Given the description of an element on the screen output the (x, y) to click on. 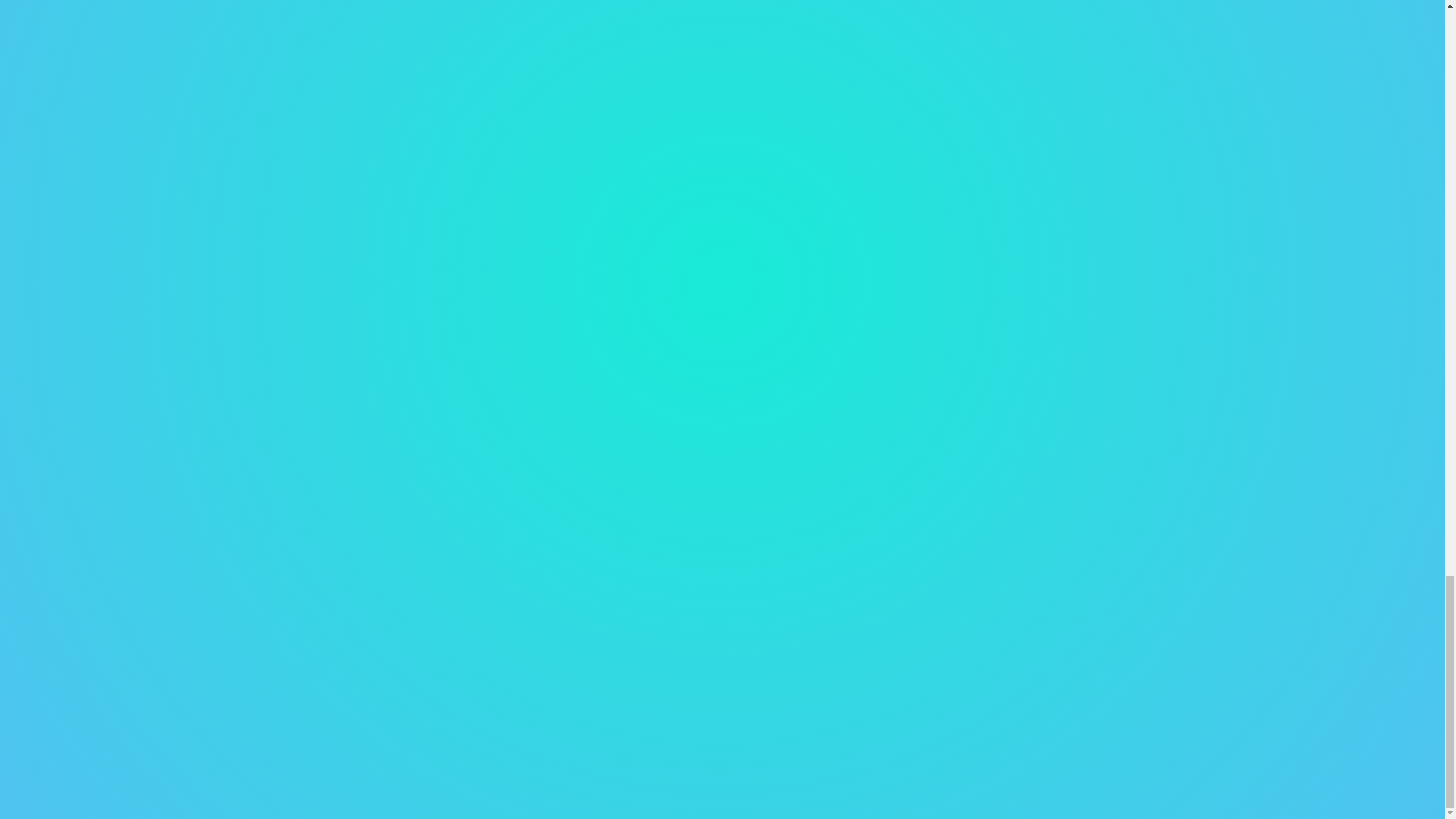
Subscribe (868, 77)
